Given the description of an element on the screen output the (x, y) to click on. 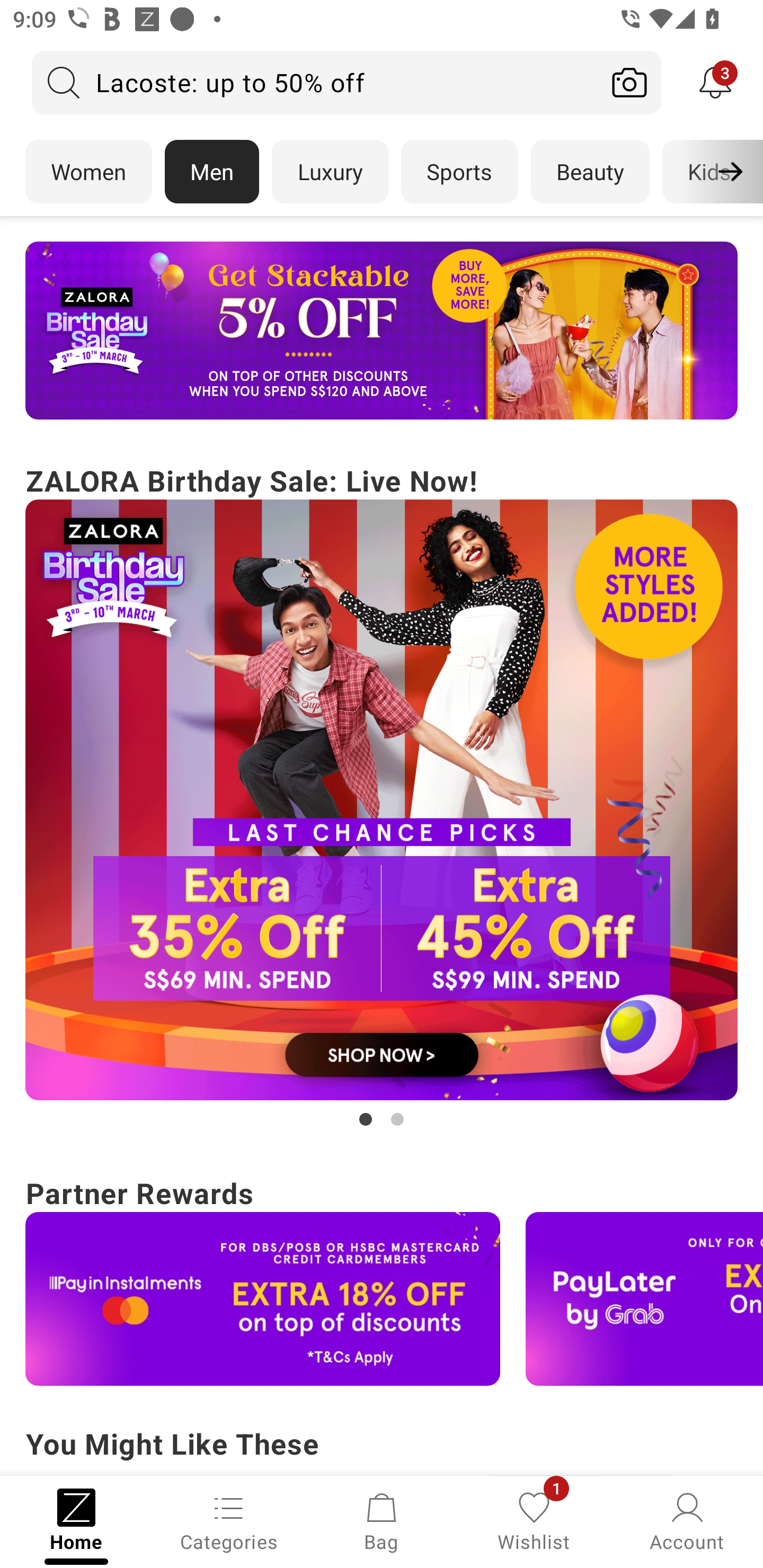
Lacoste: up to 50% off (314, 82)
Women (88, 171)
Men (211, 171)
Luxury (329, 171)
Sports (459, 171)
Beauty (590, 171)
Campaign banner (381, 330)
ZALORA Birthday Sale: Live Now! Campaign banner (381, 794)
Campaign banner (381, 800)
Partner Rewards Campaign banner Campaign banner (381, 1277)
Campaign banner (262, 1299)
Campaign banner (644, 1299)
Categories (228, 1519)
Bag (381, 1519)
Wishlist, 1 new notification Wishlist (533, 1519)
Account (686, 1519)
